Given the description of an element on the screen output the (x, y) to click on. 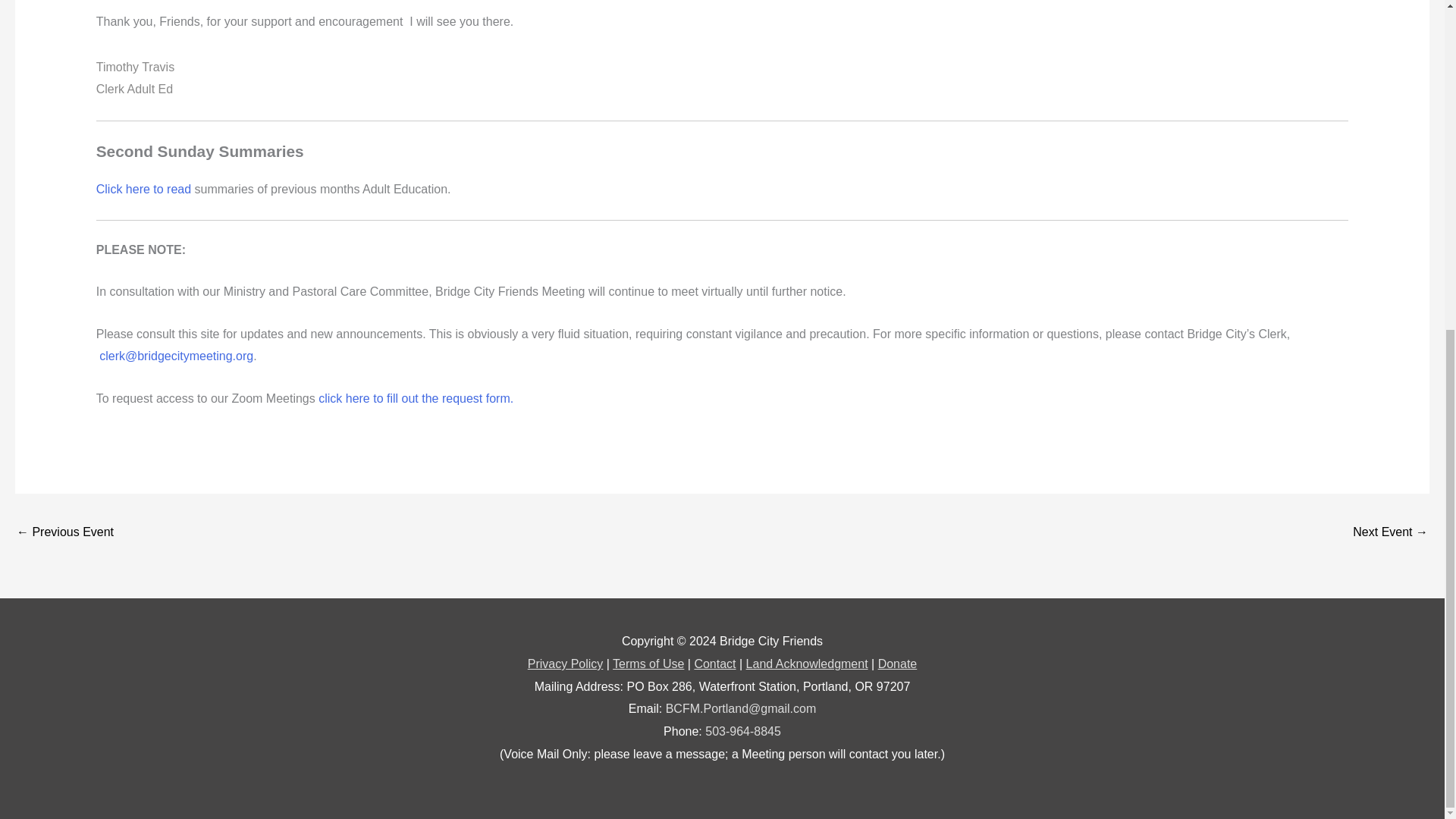
Day of the Dead, Autumn Remembrance (1390, 533)
Multnomah Monthly Meeting - Weekly Bible Study (64, 533)
